Given the description of an element on the screen output the (x, y) to click on. 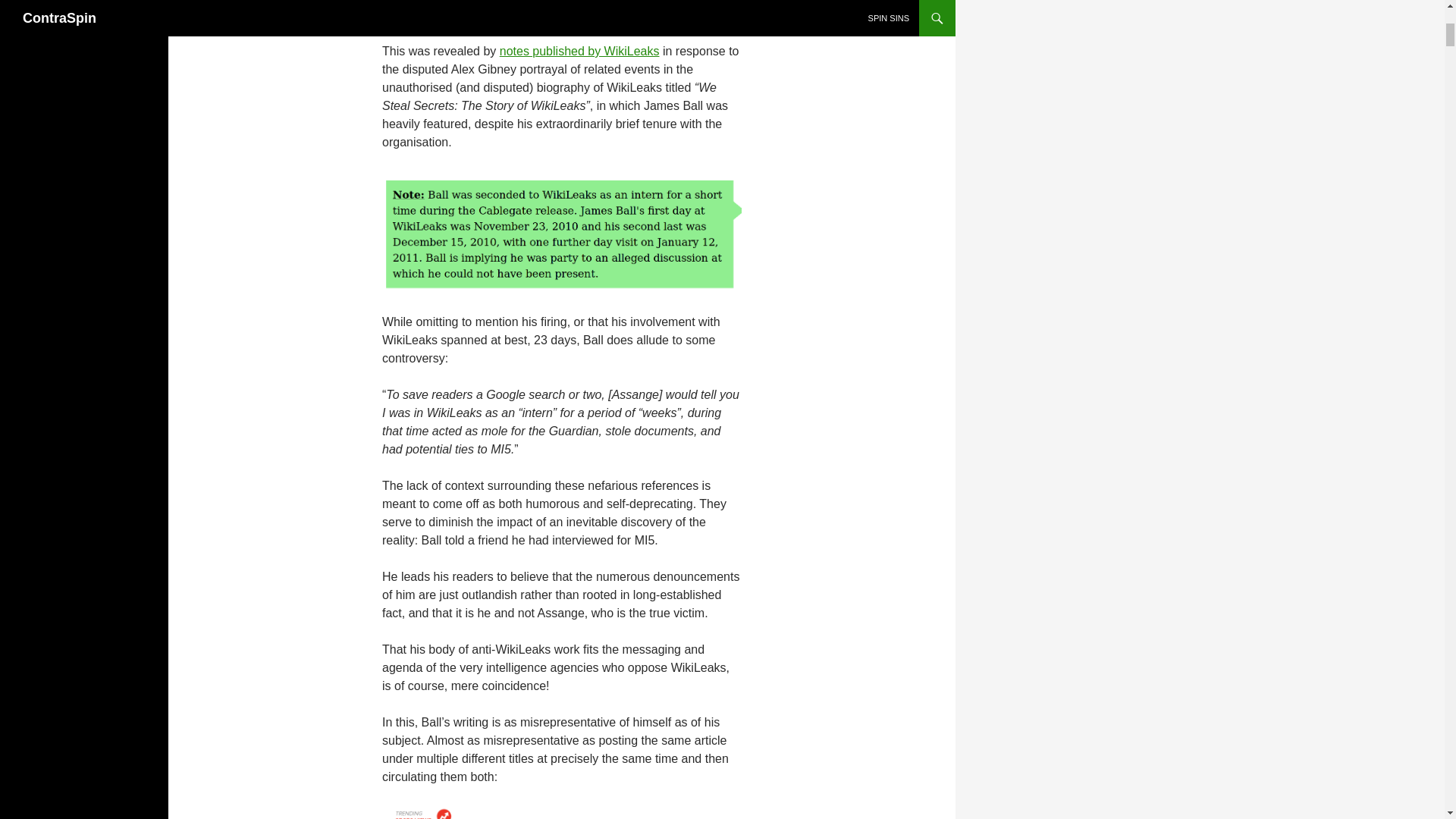
notes published by WikiLeaks (579, 51)
